Given the description of an element on the screen output the (x, y) to click on. 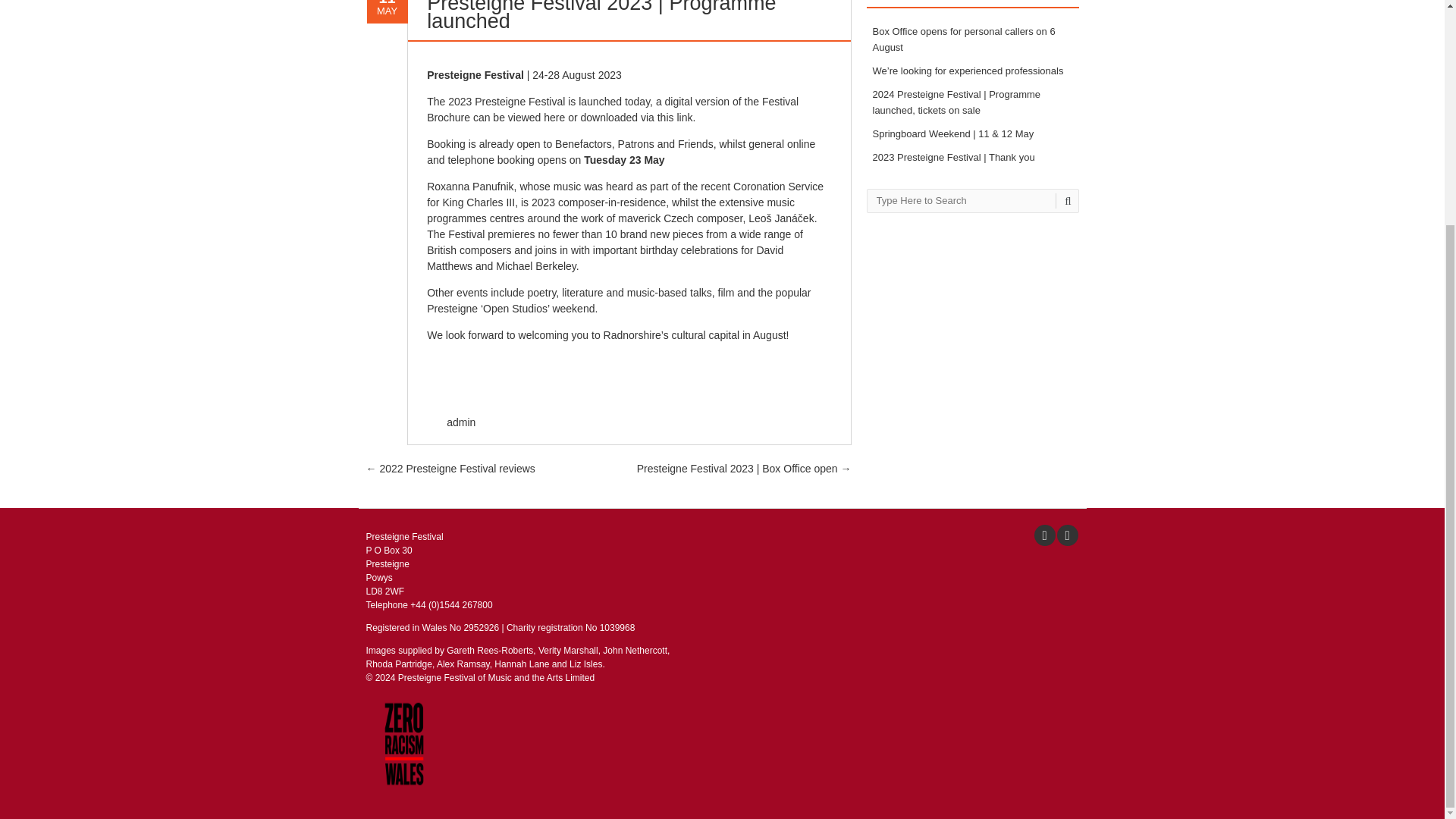
Box Office opens for personal callers on 6 August (963, 39)
twitter (1066, 535)
facebook (1043, 535)
link (685, 117)
here (553, 117)
Search (1064, 200)
admin (461, 422)
